Given the description of an element on the screen output the (x, y) to click on. 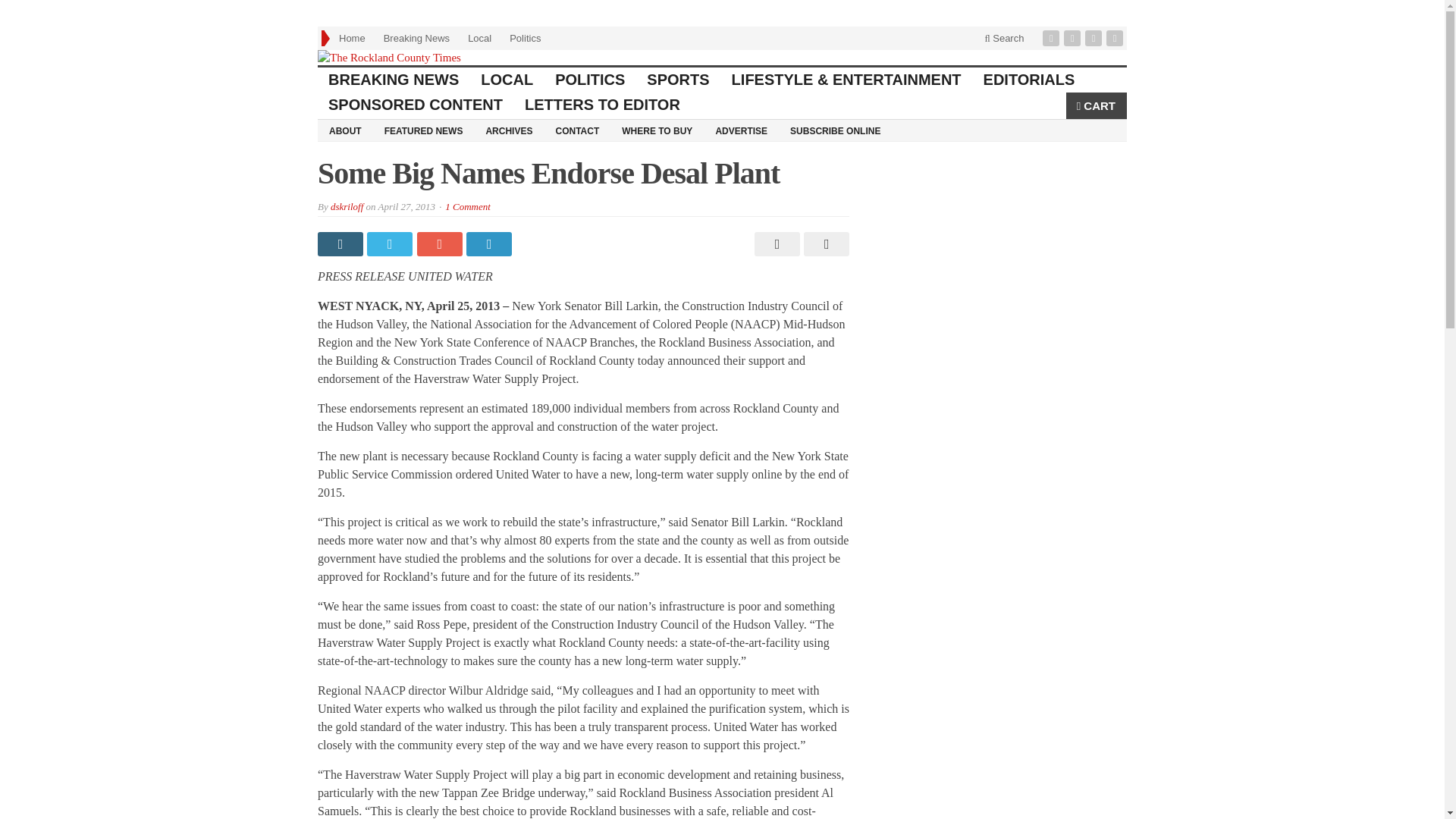
Politics (525, 37)
Share on LinkedIn (490, 243)
WHERE TO BUY (656, 129)
Rockland County's Source for Real News Since 1888 (721, 57)
Send by Email (823, 243)
Print This Post (775, 243)
EDITORIALS (1029, 79)
SPONSORED CONTENT (415, 104)
1 Comment (467, 206)
Search (1003, 37)
